Given the description of an element on the screen output the (x, y) to click on. 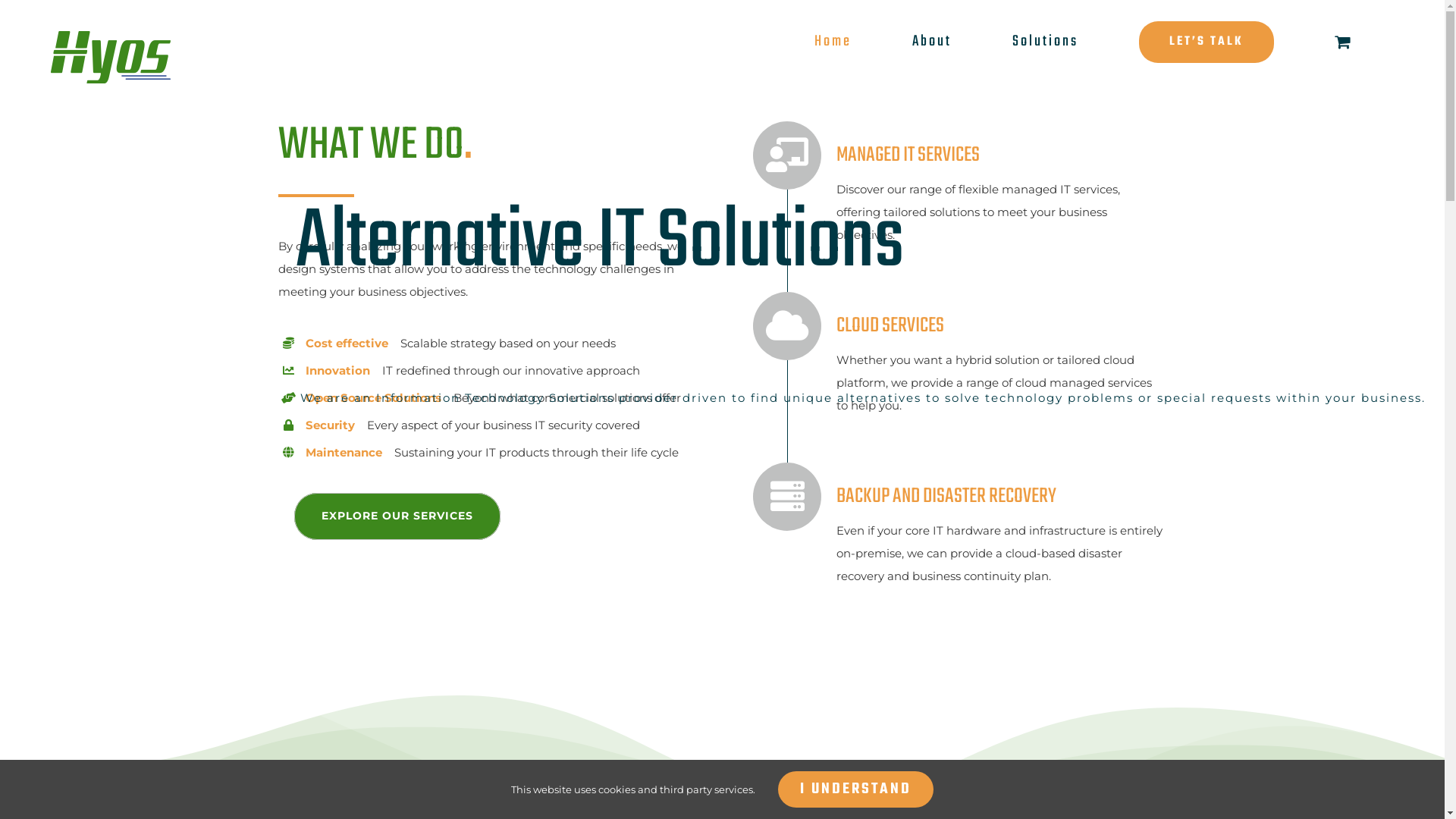
About Element type: text (931, 41)
BACKUP AND DISASTER RECOVERY Element type: text (904, 496)
CLOUD SERVICES Element type: text (848, 325)
I UNDERSTAND Element type: text (855, 789)
Home Element type: text (832, 41)
MANAGED IT SERVICES Element type: text (866, 155)
Solutions Element type: text (1045, 41)
